Given the description of an element on the screen output the (x, y) to click on. 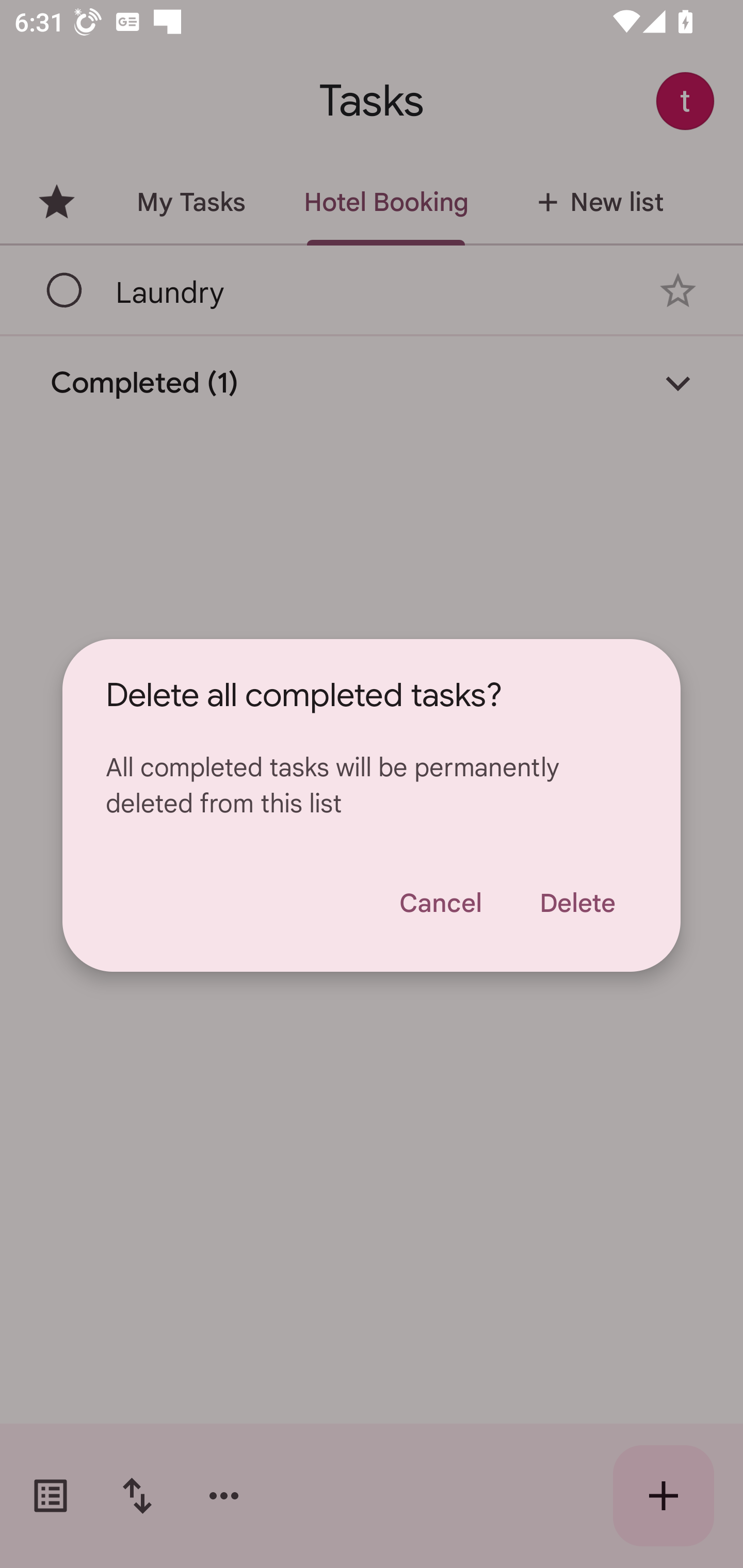
Cancel (440, 903)
Delete (577, 903)
